Given the description of an element on the screen output the (x, y) to click on. 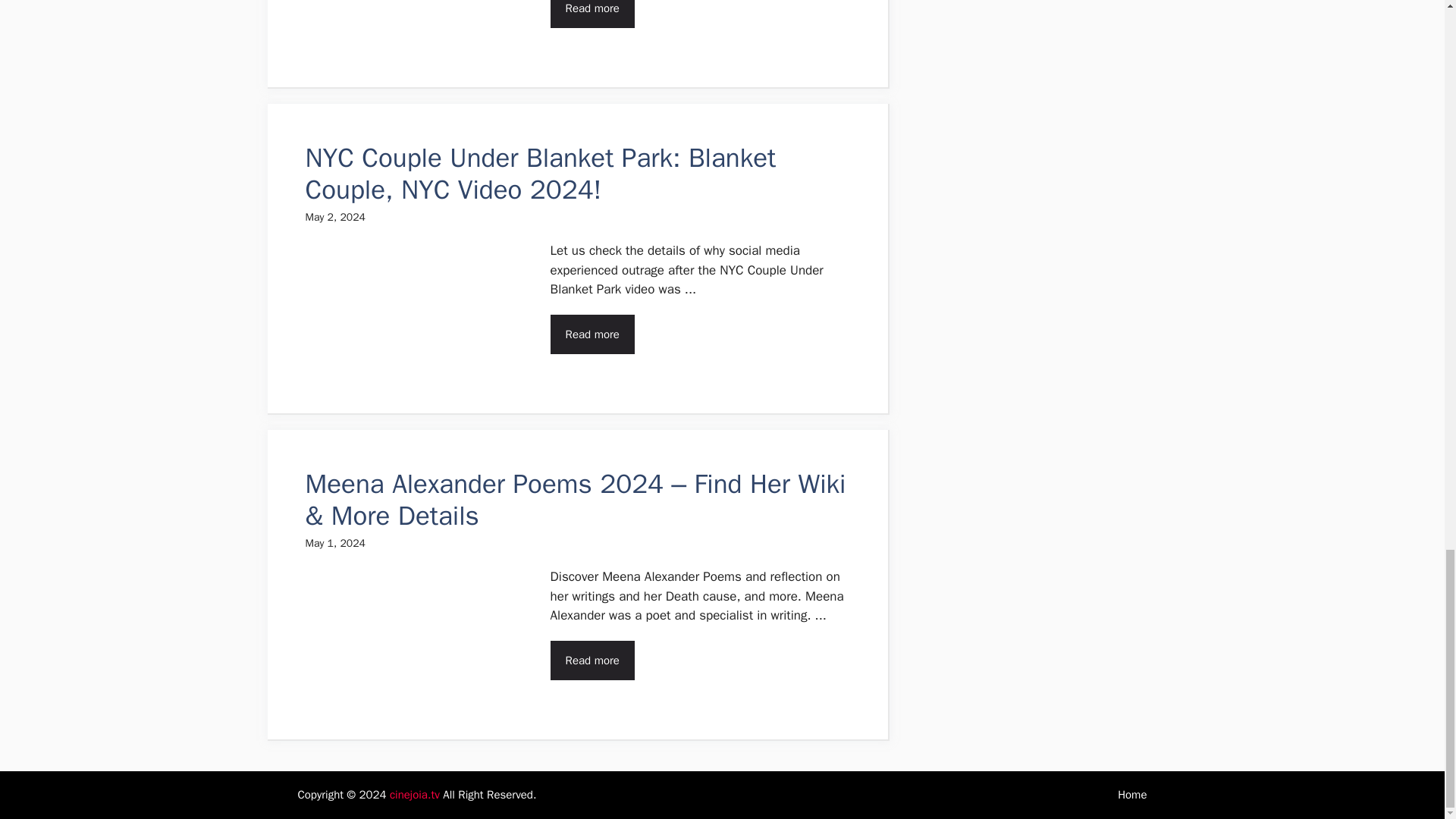
Read more (592, 14)
cinejoia.tv (414, 794)
Read more (592, 334)
Home (1132, 794)
Read more (592, 660)
